Given the description of an element on the screen output the (x, y) to click on. 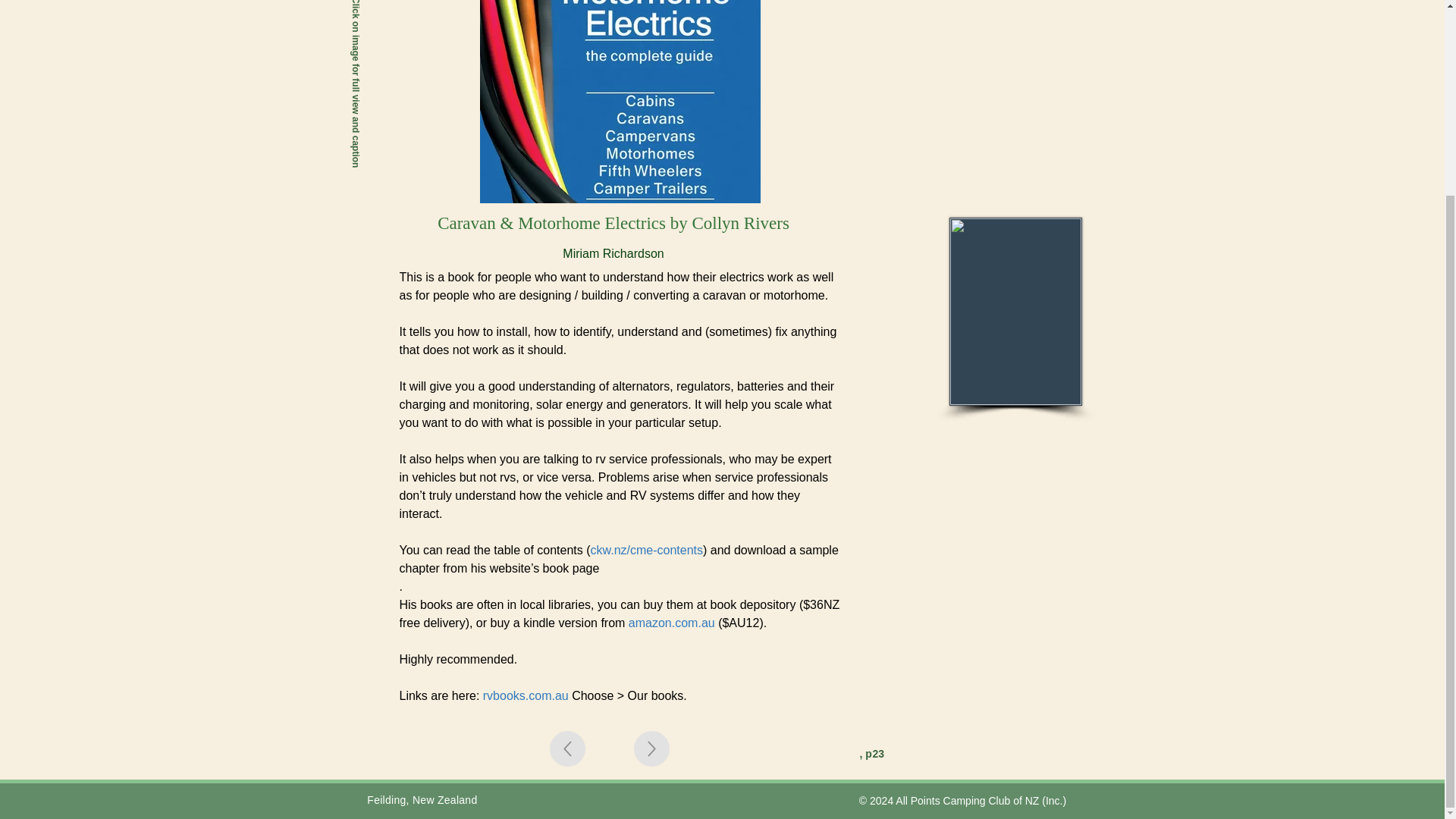
amazon.com.au (671, 622)
rvbooks.com.au (526, 695)
